Given the description of an element on the screen output the (x, y) to click on. 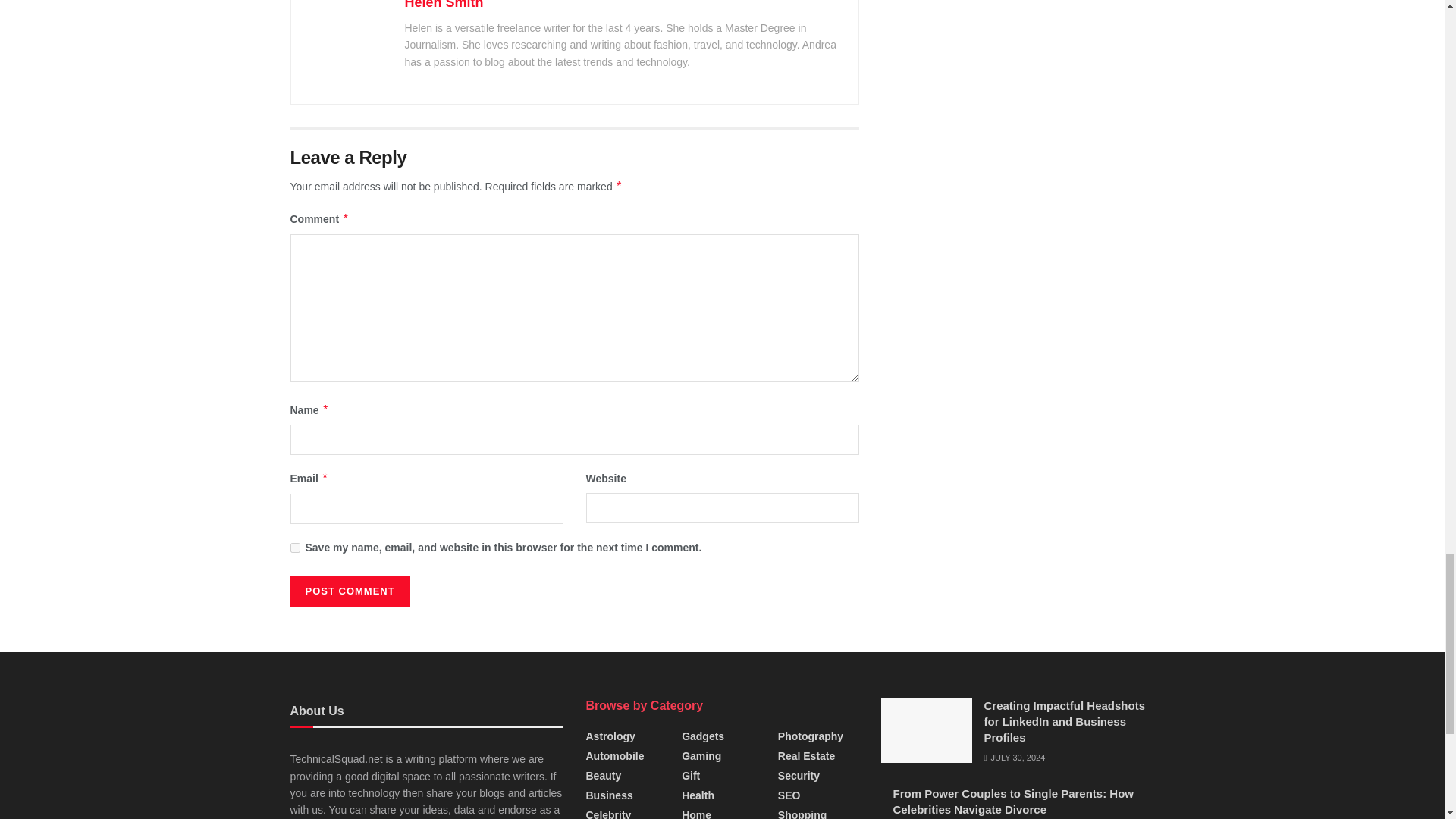
yes (294, 547)
Post Comment (349, 591)
